Given the description of an element on the screen output the (x, y) to click on. 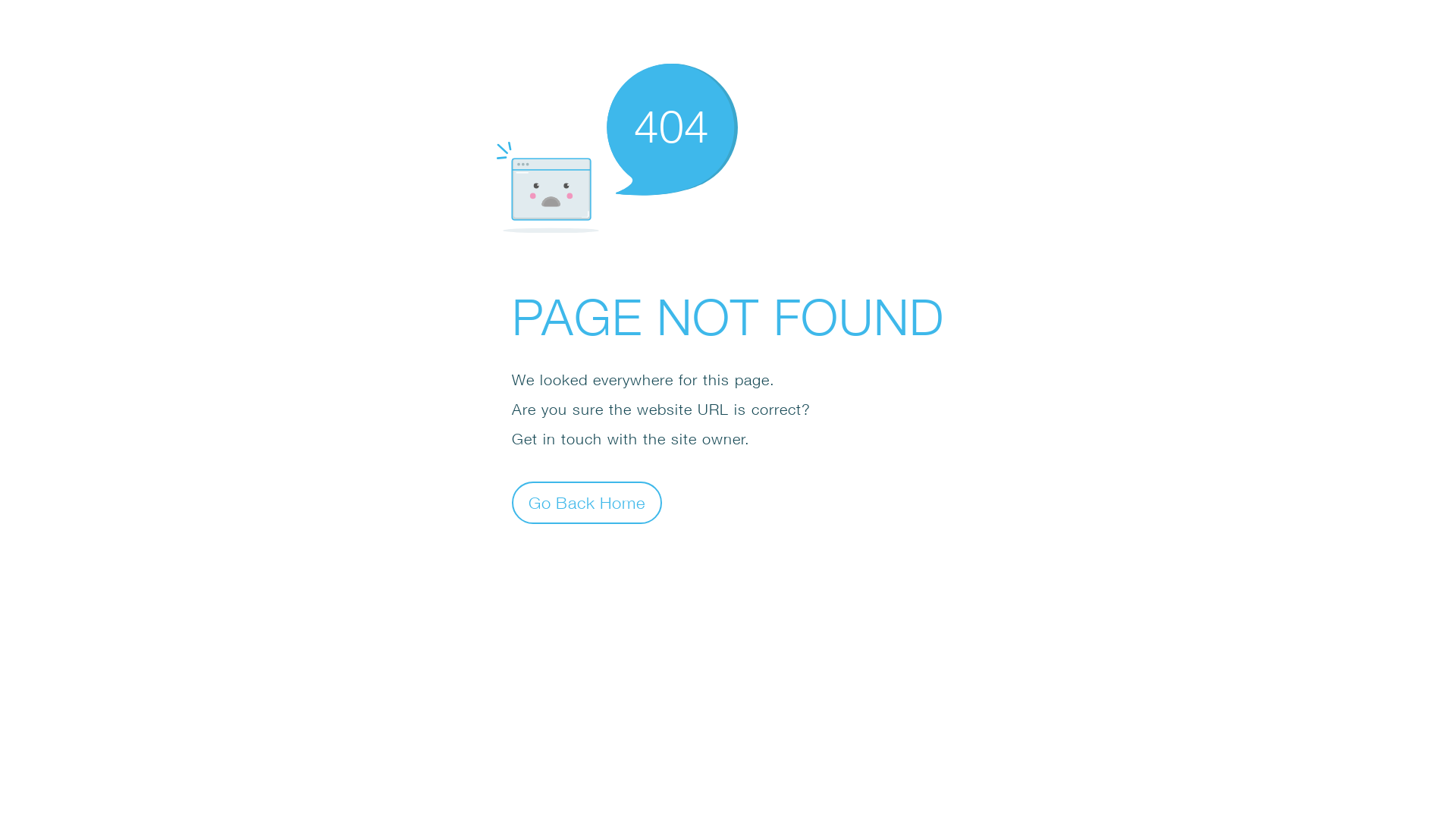
Go Back Home Element type: text (586, 502)
